Given the description of an element on the screen output the (x, y) to click on. 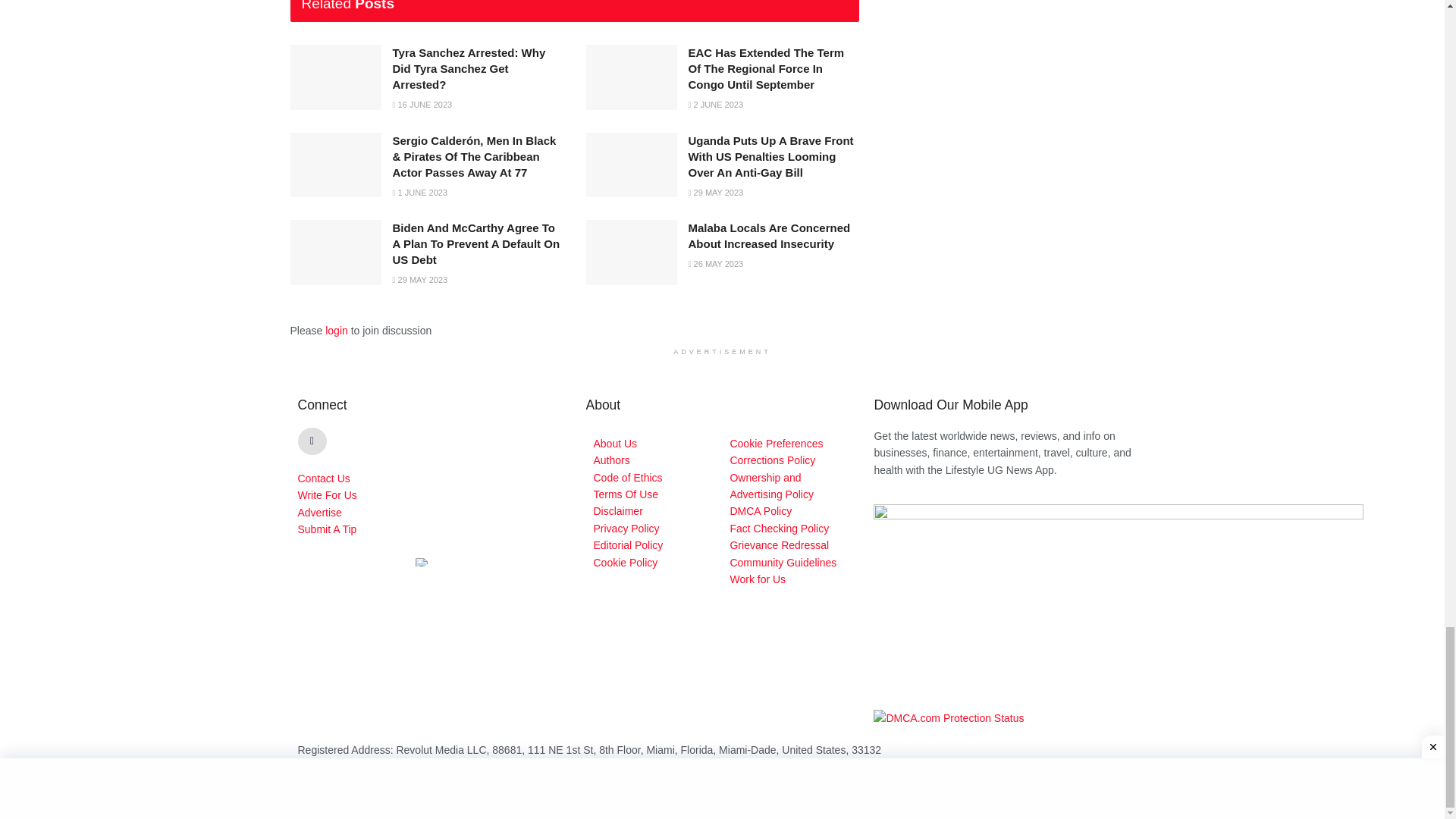
Tyra Sanchez Arrested: Why Did Tyra Sanchez Get Arrested? (469, 67)
DMCA.com Protection Status (948, 717)
16 JUNE 2023 (422, 103)
